Given the description of an element on the screen output the (x, y) to click on. 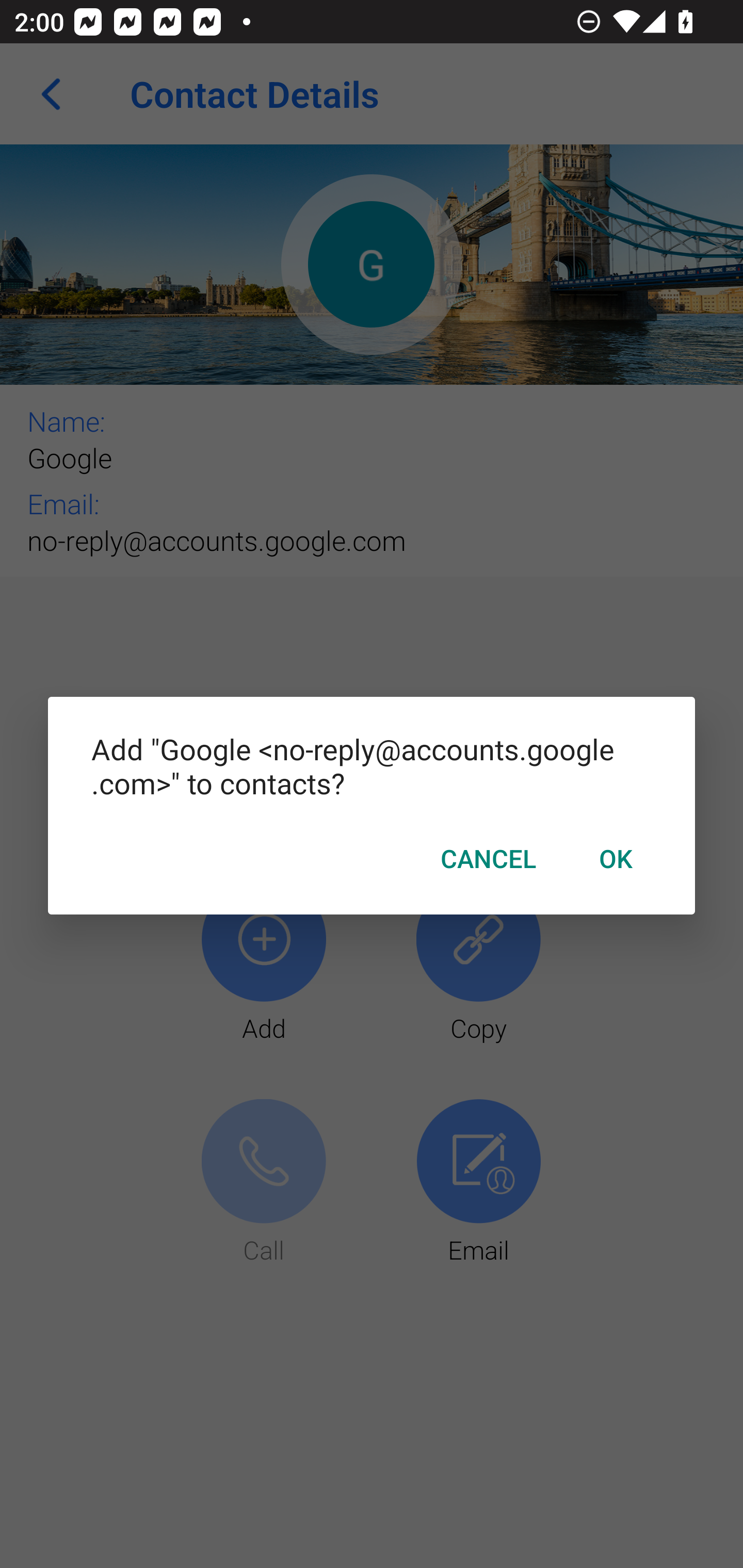
CANCEL (488, 858)
OK (615, 858)
